Given the description of an element on the screen output the (x, y) to click on. 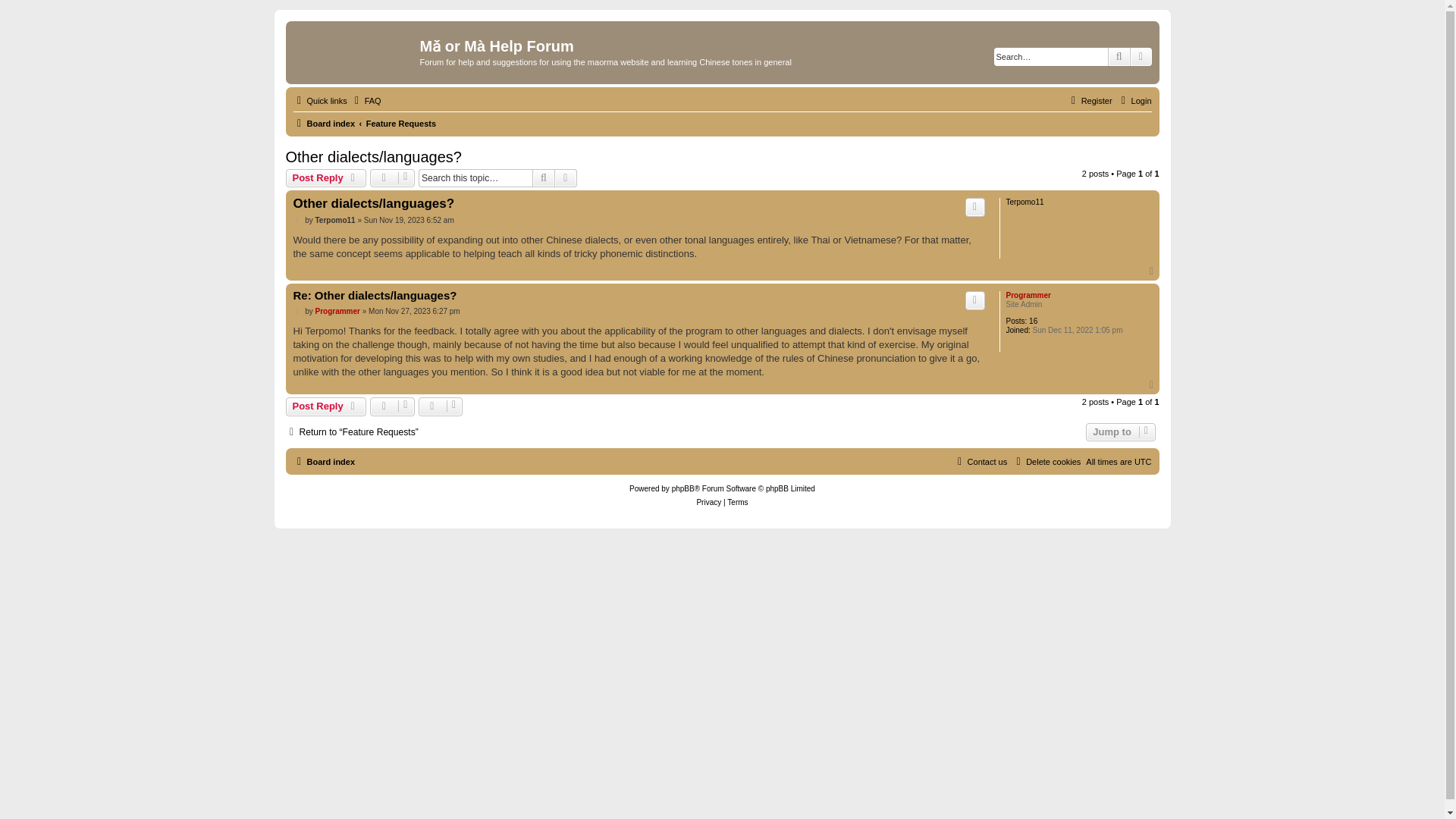
Advanced search (565, 177)
Post Reply (325, 177)
Feature Requests (400, 123)
Search for keywords (1051, 56)
Board index (323, 123)
Post (297, 311)
Frequently Asked Questions (365, 100)
Reply with quote (975, 207)
Programmer (1027, 295)
Topic tools (391, 177)
